Given the description of an element on the screen output the (x, y) to click on. 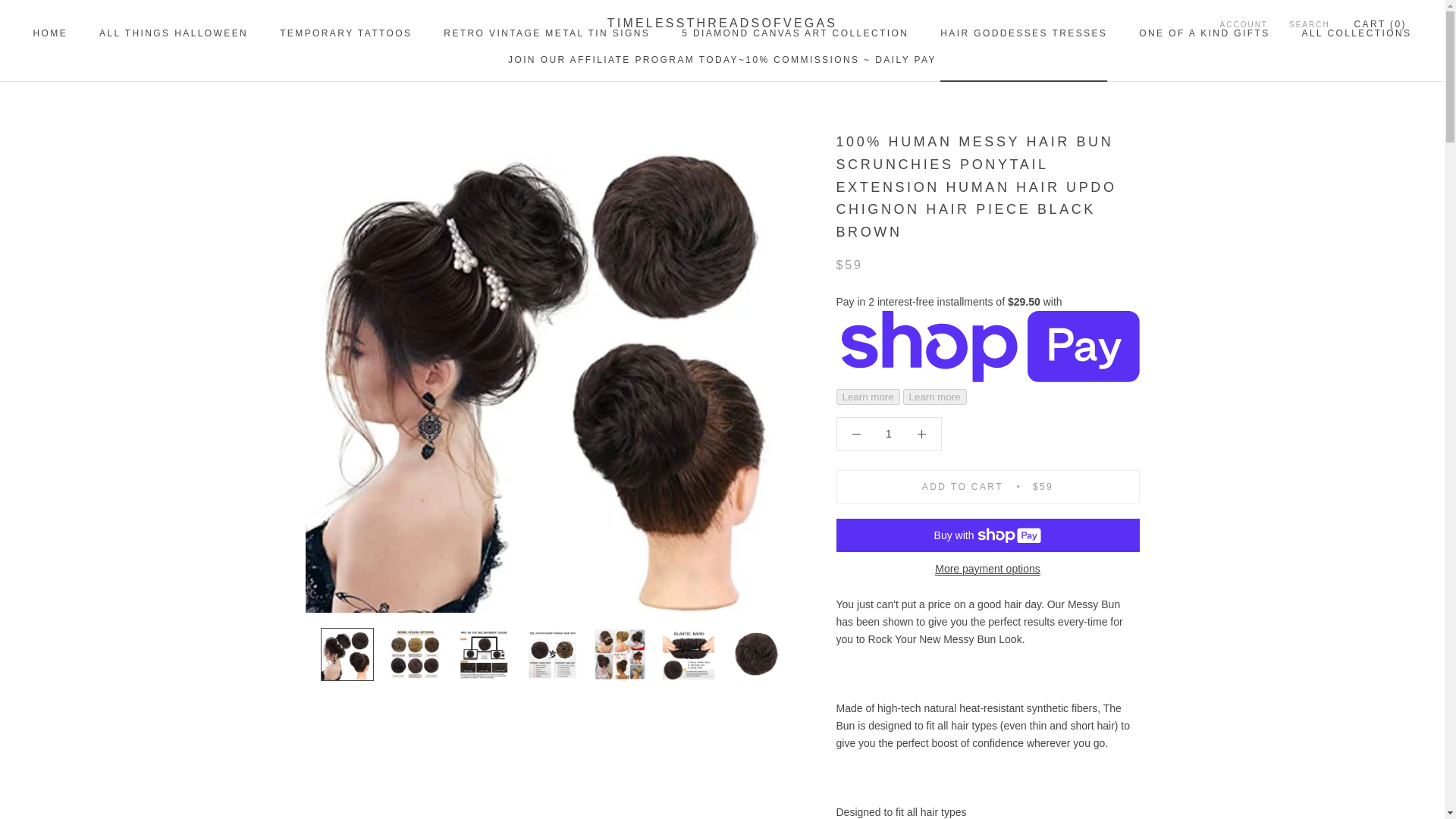
1 (546, 32)
More payment options (173, 32)
TIMELESSTHREADSOFVEGAS (1203, 32)
ACCOUNT (888, 433)
SEARCH (345, 32)
